Given the description of an element on the screen output the (x, y) to click on. 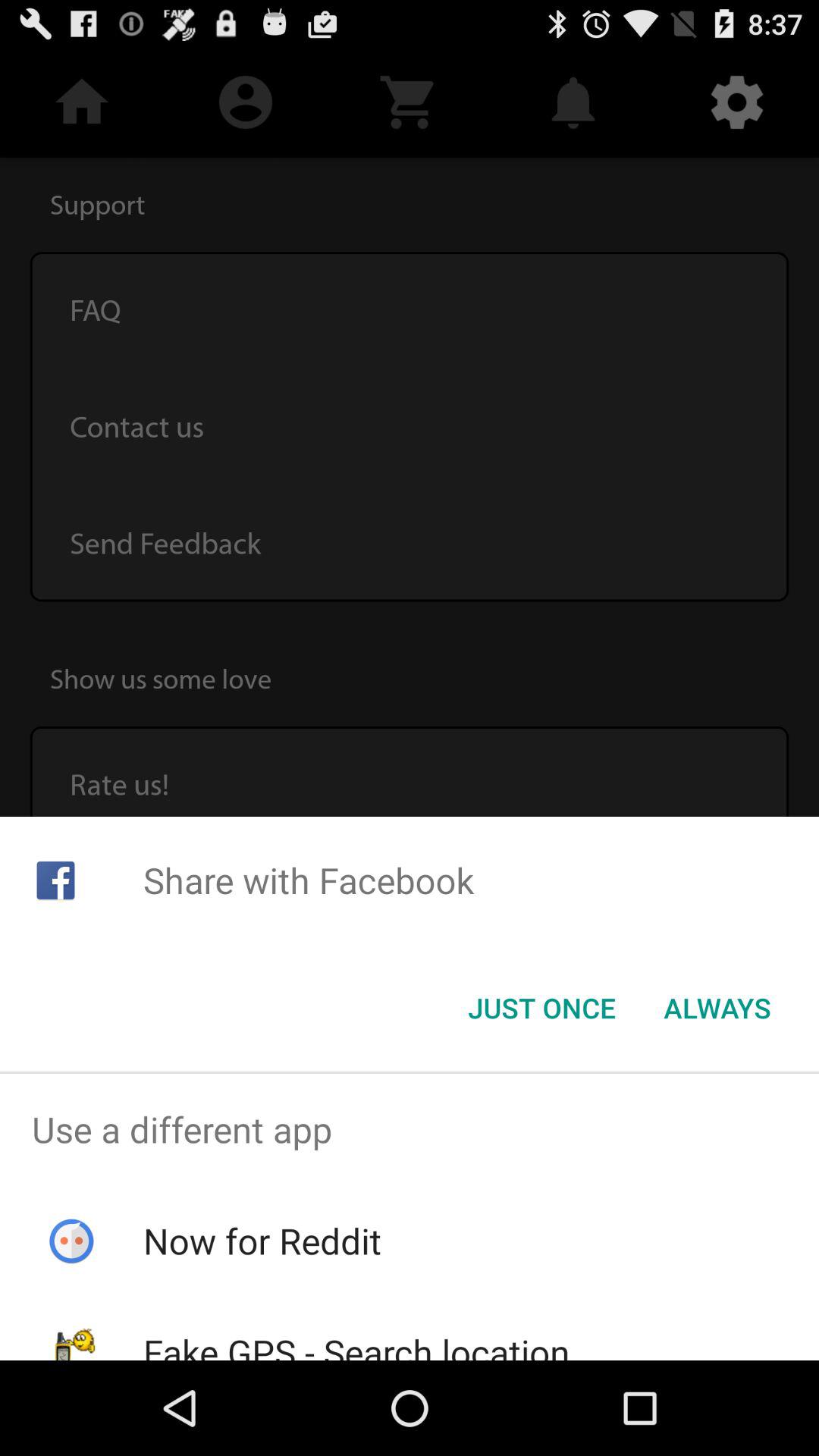
swipe to the fake gps search (356, 1344)
